Given the description of an element on the screen output the (x, y) to click on. 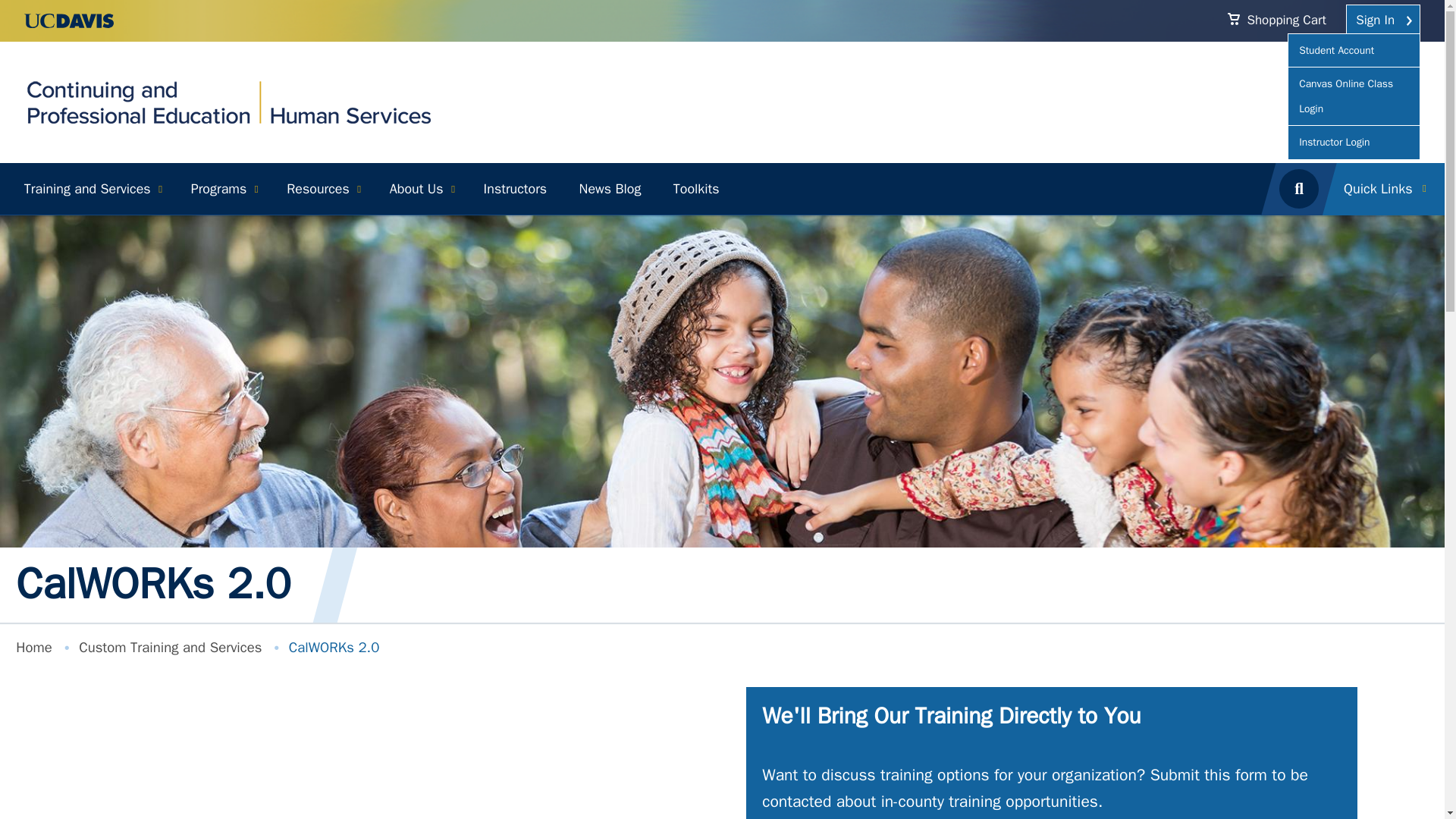
Sign In (1383, 20)
Training and Services (91, 188)
Instructor Login (1334, 141)
Home (227, 100)
Sign in as an instructor (1334, 141)
Sign In (1383, 20)
Sign into online classes (1345, 95)
Shopping Cart (1285, 19)
Canvas Online Class Login (1345, 95)
